Given the description of an element on the screen output the (x, y) to click on. 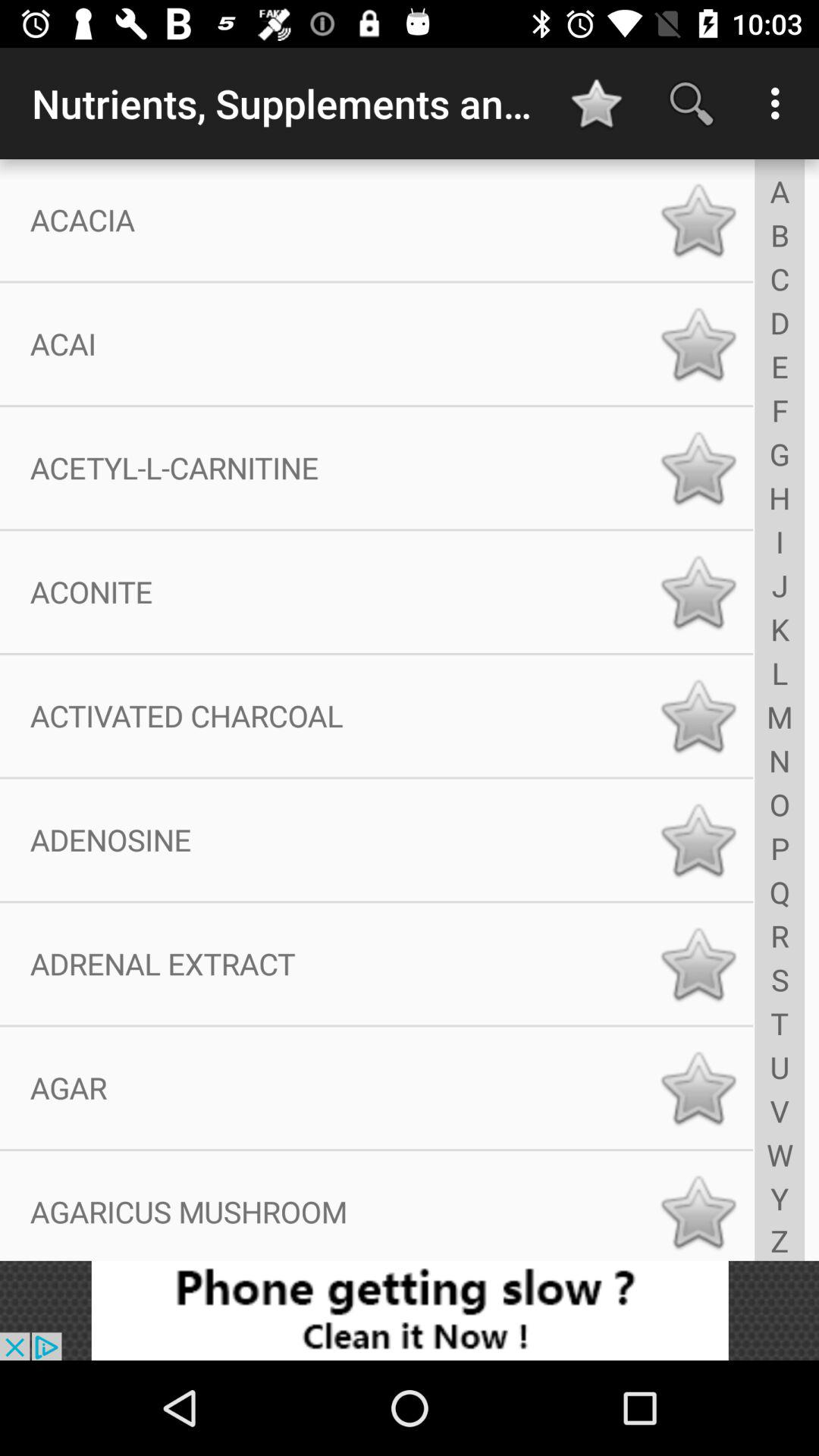
add favorite (697, 1087)
